Given the description of an element on the screen output the (x, y) to click on. 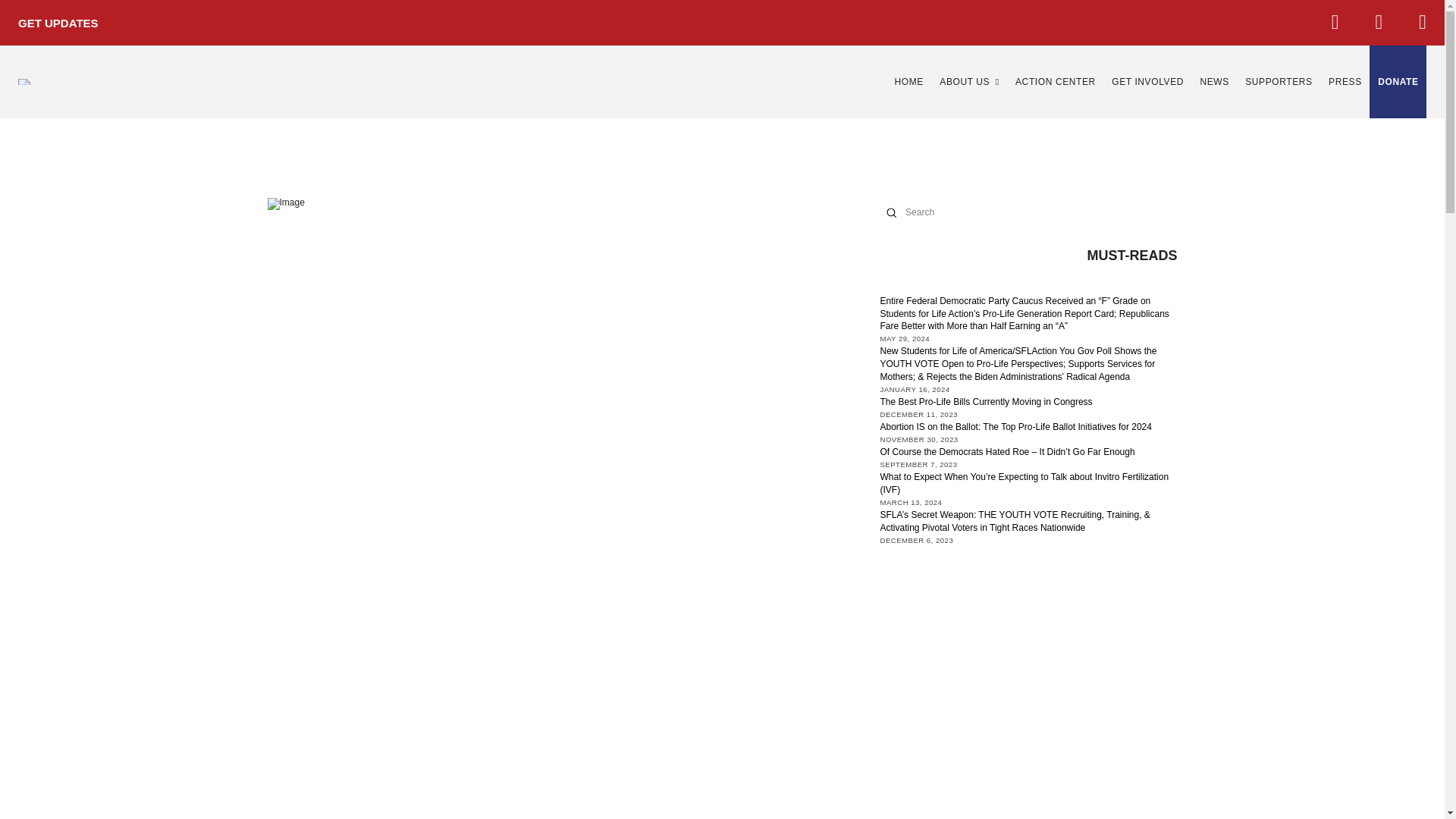
SUPPORTERS (1278, 81)
GET INVOLVED (1147, 81)
ABOUT US (969, 81)
HOME (908, 81)
PRESS (1345, 81)
GET UPDATES (53, 23)
DONATE (1398, 81)
ACTION CENTER (1055, 81)
NEWS (1213, 81)
